Given the description of an element on the screen output the (x, y) to click on. 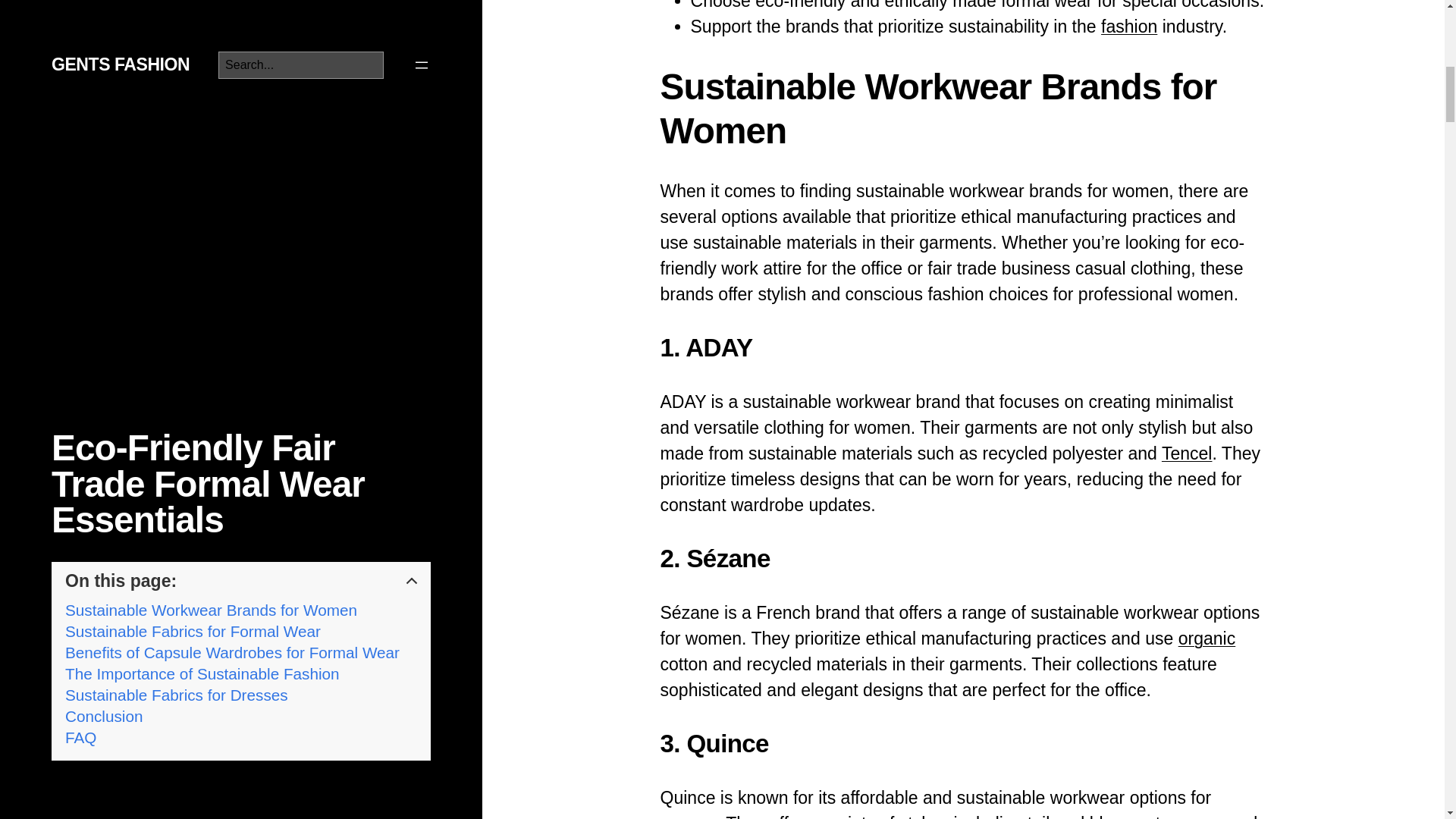
Tencel (1186, 453)
Tencel (1186, 453)
fashion (1128, 26)
fashion (1128, 26)
organic (1206, 638)
organic (1206, 638)
